Given the description of an element on the screen output the (x, y) to click on. 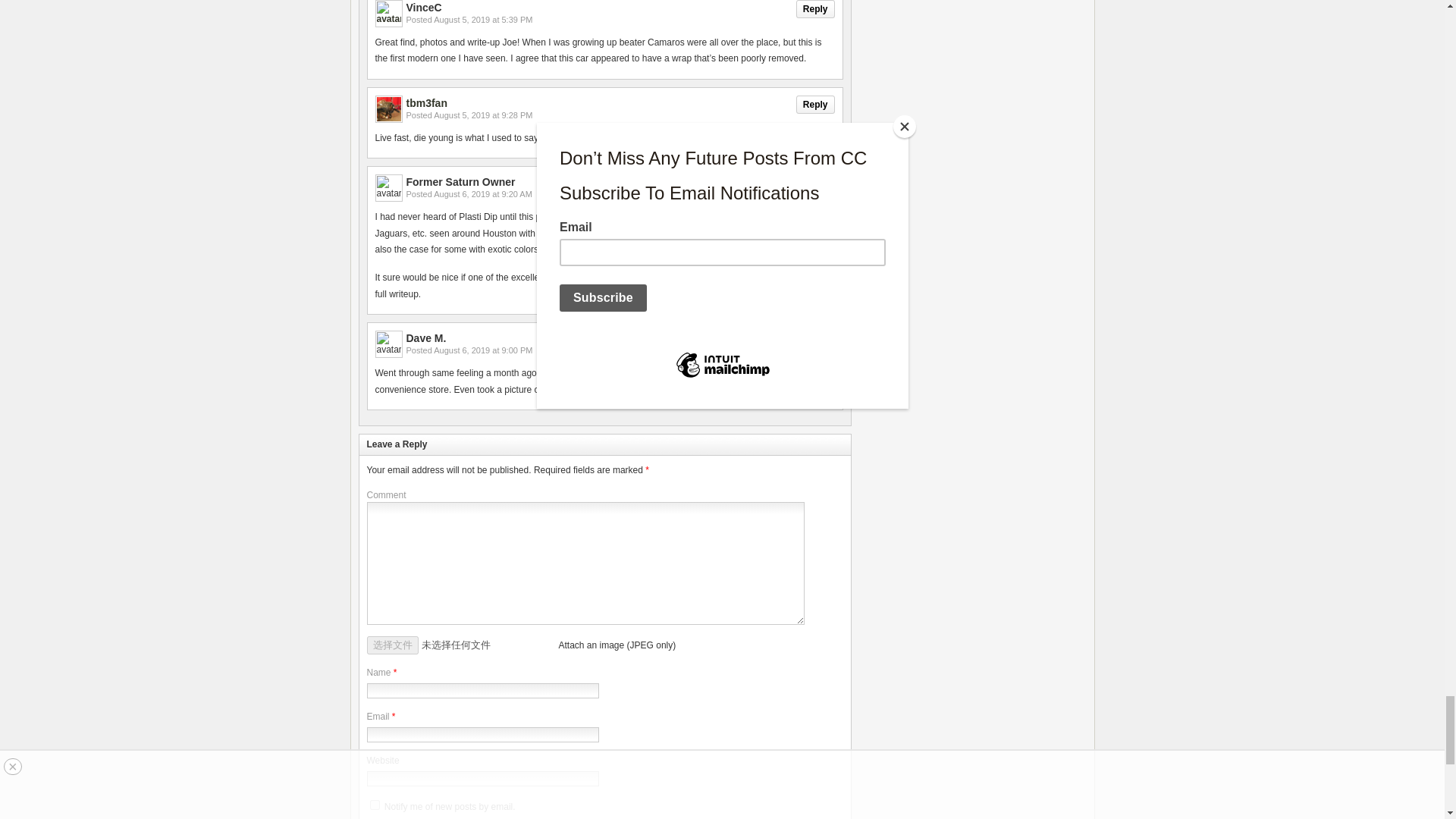
subscribe (374, 804)
